Given the description of an element on the screen output the (x, y) to click on. 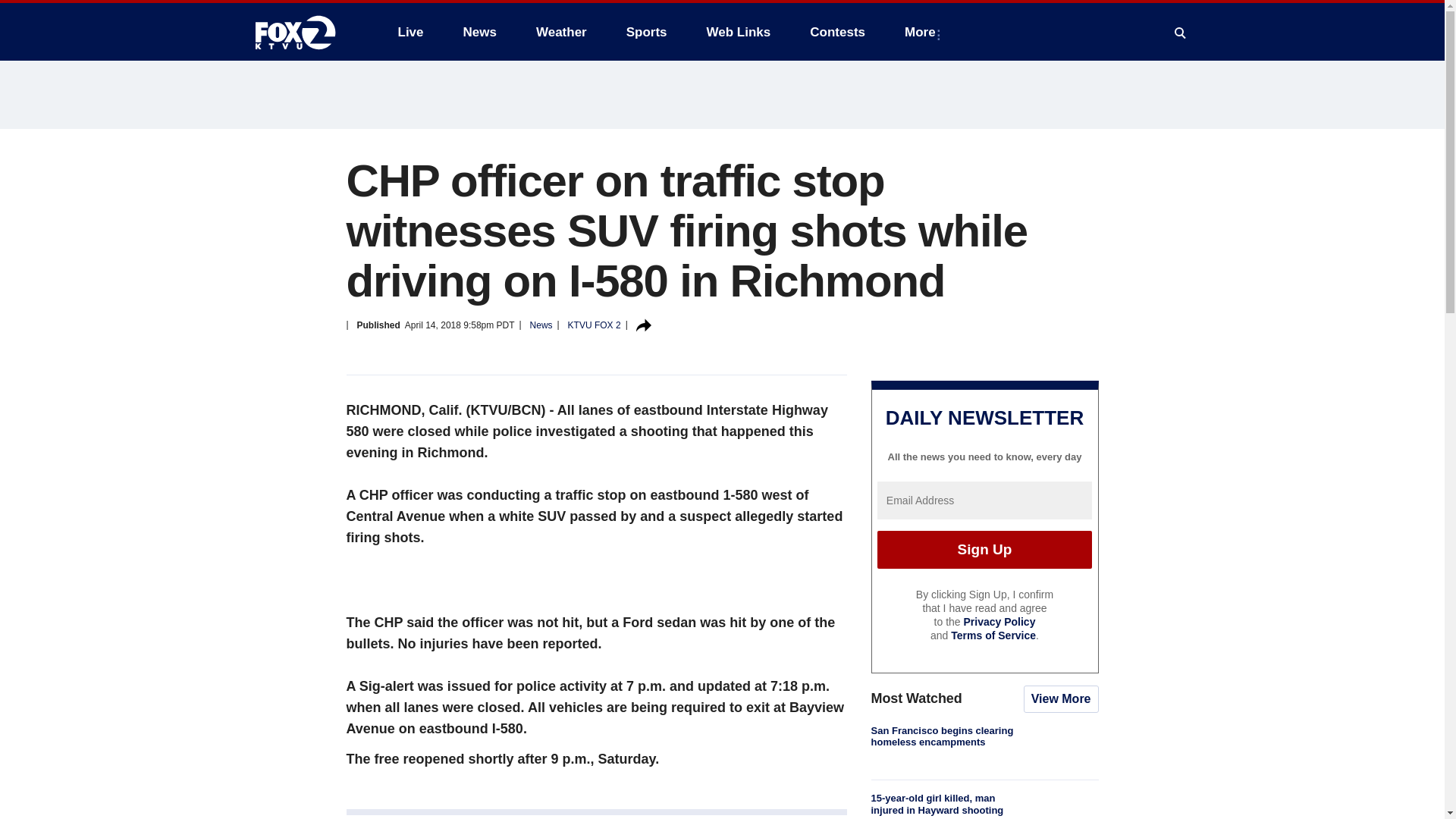
Contests (837, 32)
Web Links (738, 32)
Sign Up (984, 549)
More (922, 32)
Weather (561, 32)
Sports (646, 32)
News (479, 32)
Live (410, 32)
